Given the description of an element on the screen output the (x, y) to click on. 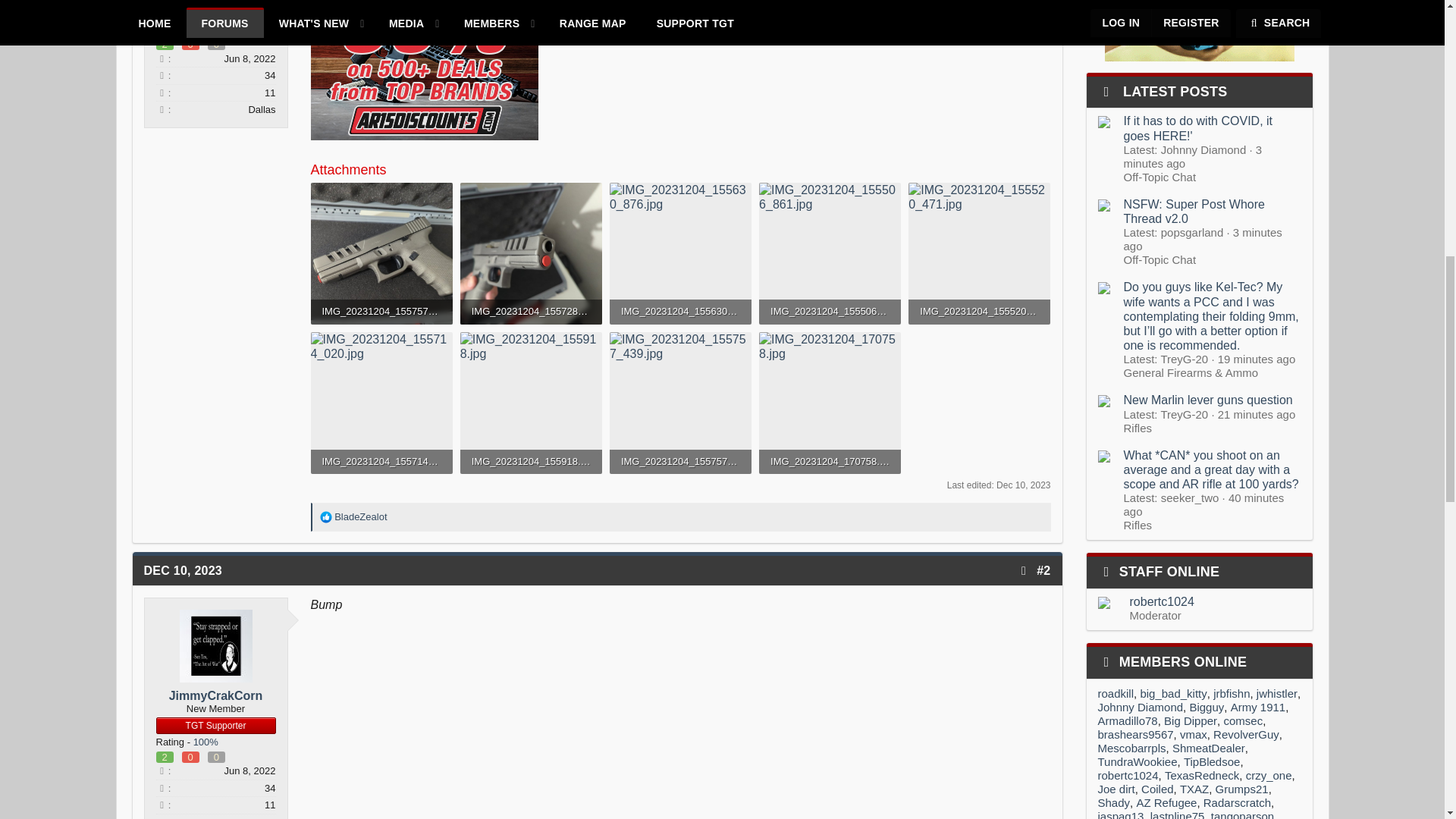
Dec 10, 2023 at 8:27 AM (1022, 484)
Jul 18, 2024 at 6:28 AM (1193, 156)
Like (325, 517)
Dec 10, 2023 at 8:27 AM (183, 570)
